Given the description of an element on the screen output the (x, y) to click on. 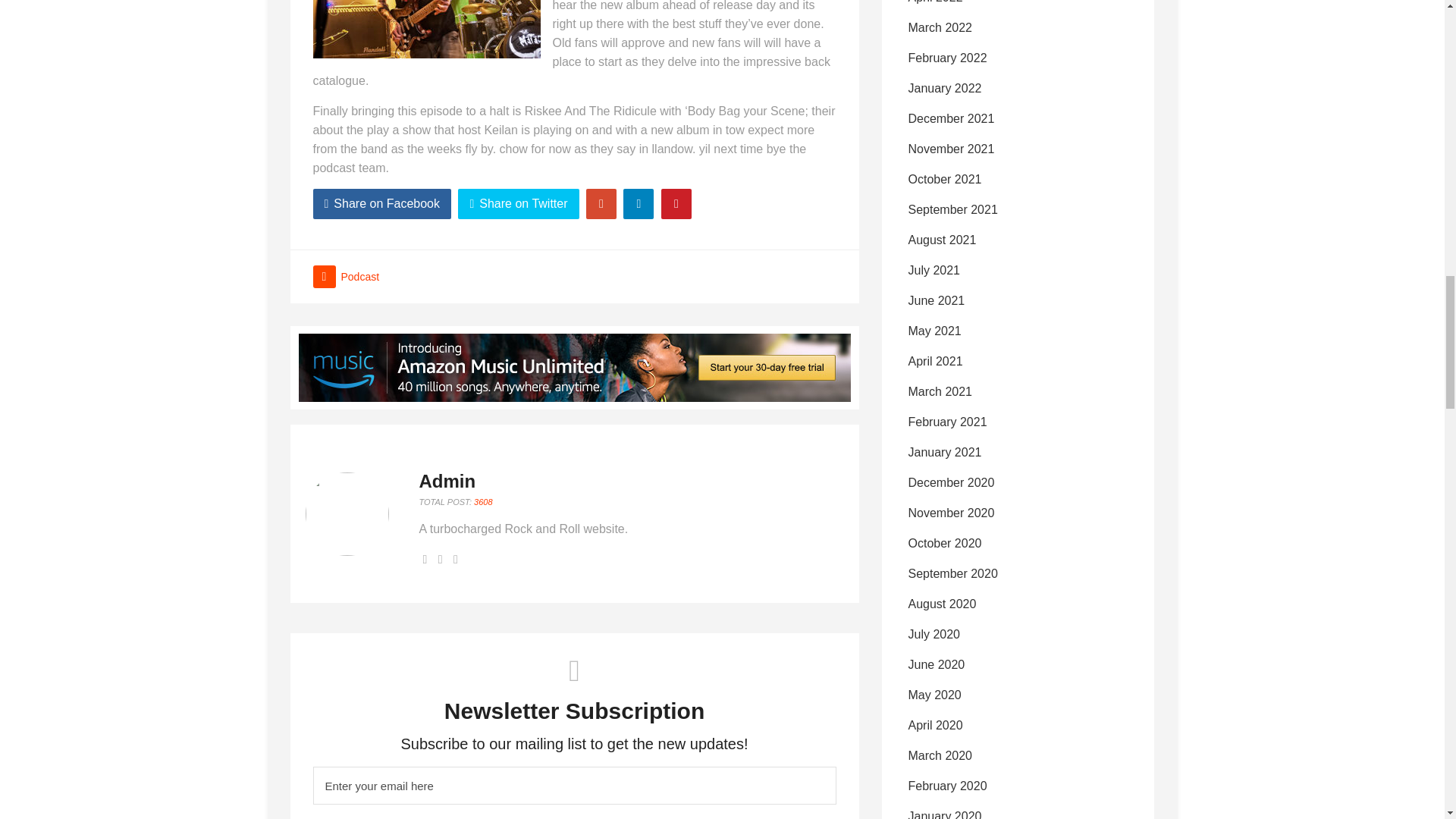
Share on Facebook! (382, 204)
Share on Twitter! (518, 204)
